Given the description of an element on the screen output the (x, y) to click on. 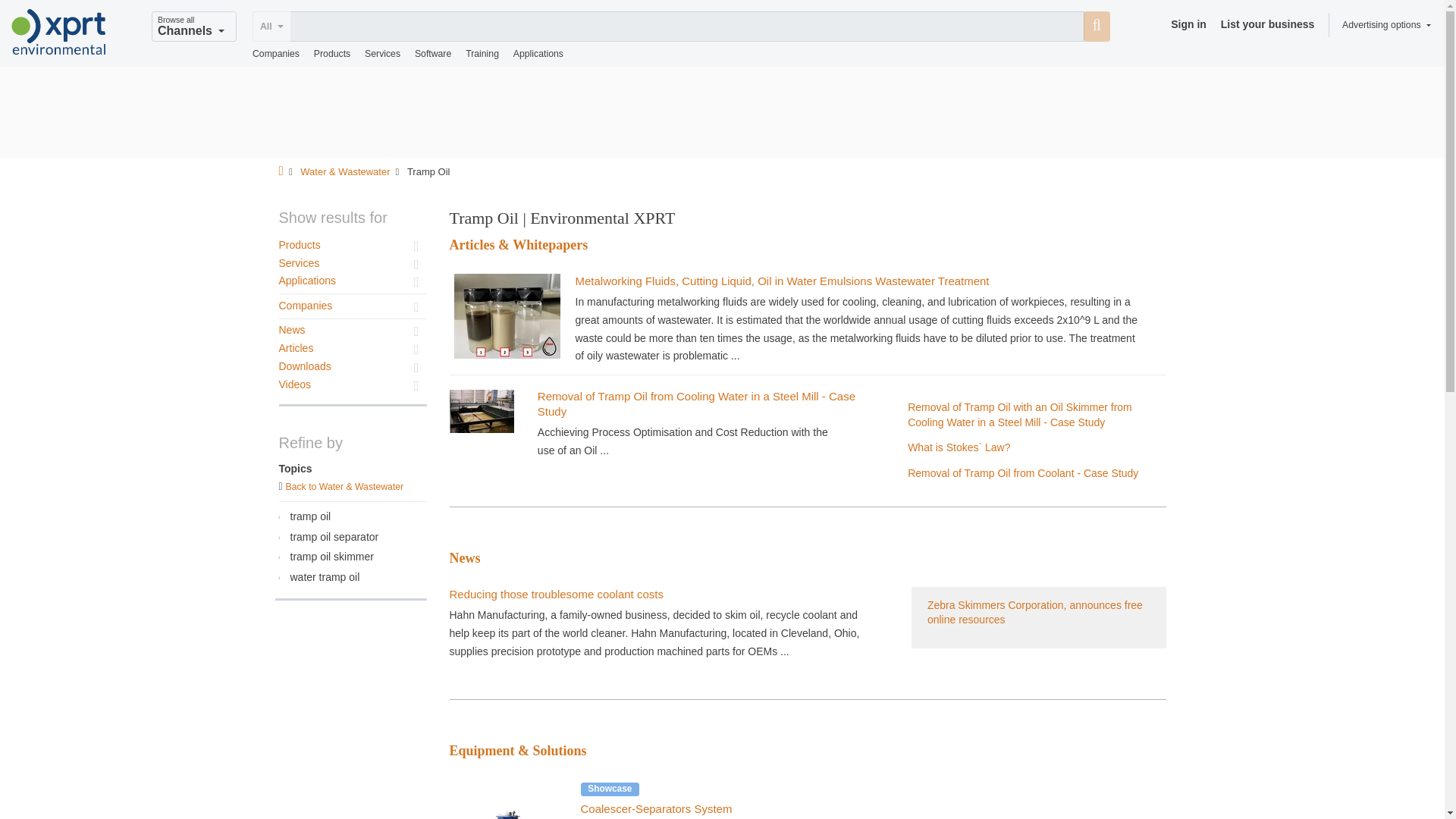
tramp oil separator (350, 537)
water tramp oil (350, 578)
tramp oil (350, 516)
tramp oil skimmer (350, 557)
Logo Environmental XPRT (58, 31)
3rd party ad content (721, 111)
